Given the description of an element on the screen output the (x, y) to click on. 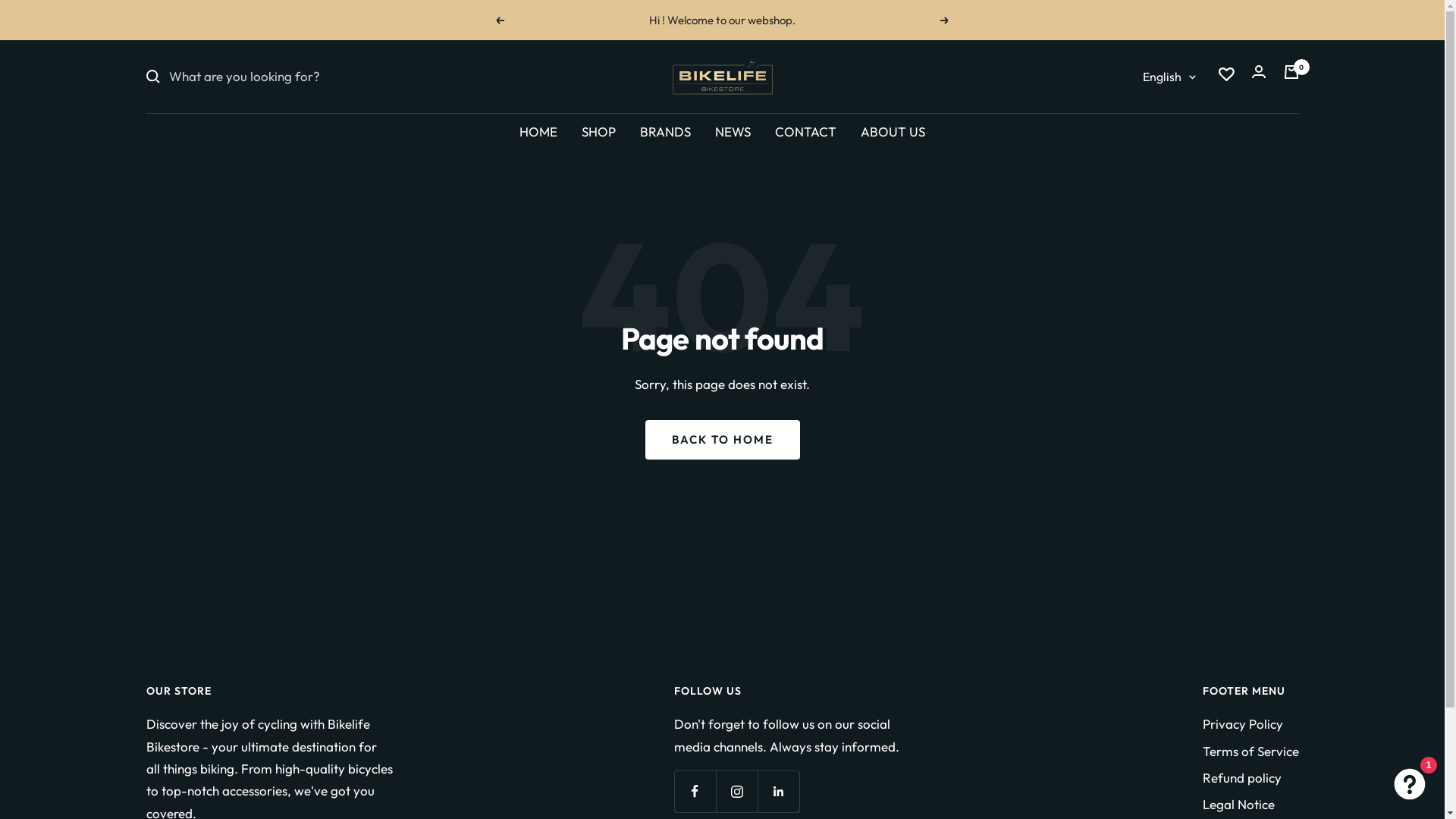
HOME Element type: text (538, 131)
CONTACT Element type: text (805, 131)
Privacy Policy Element type: text (1242, 723)
BACK TO HOME Element type: text (721, 439)
English Element type: text (1168, 76)
BRANDS Element type: text (665, 131)
en Element type: text (1149, 131)
Refund policy Element type: text (1241, 777)
Legal Notice Element type: text (1238, 804)
SHOP Element type: text (598, 131)
Terms of Service Element type: text (1250, 751)
0 Element type: text (1290, 76)
nl Element type: text (1149, 158)
fr Element type: text (1149, 186)
ABOUT US Element type: text (892, 131)
NEWS Element type: text (732, 131)
Previous Element type: text (499, 20)
Next Element type: text (944, 20)
Bikelife Bikestore Element type: text (721, 76)
Shopify online store chat Element type: hover (1409, 780)
